Given the description of an element on the screen output the (x, y) to click on. 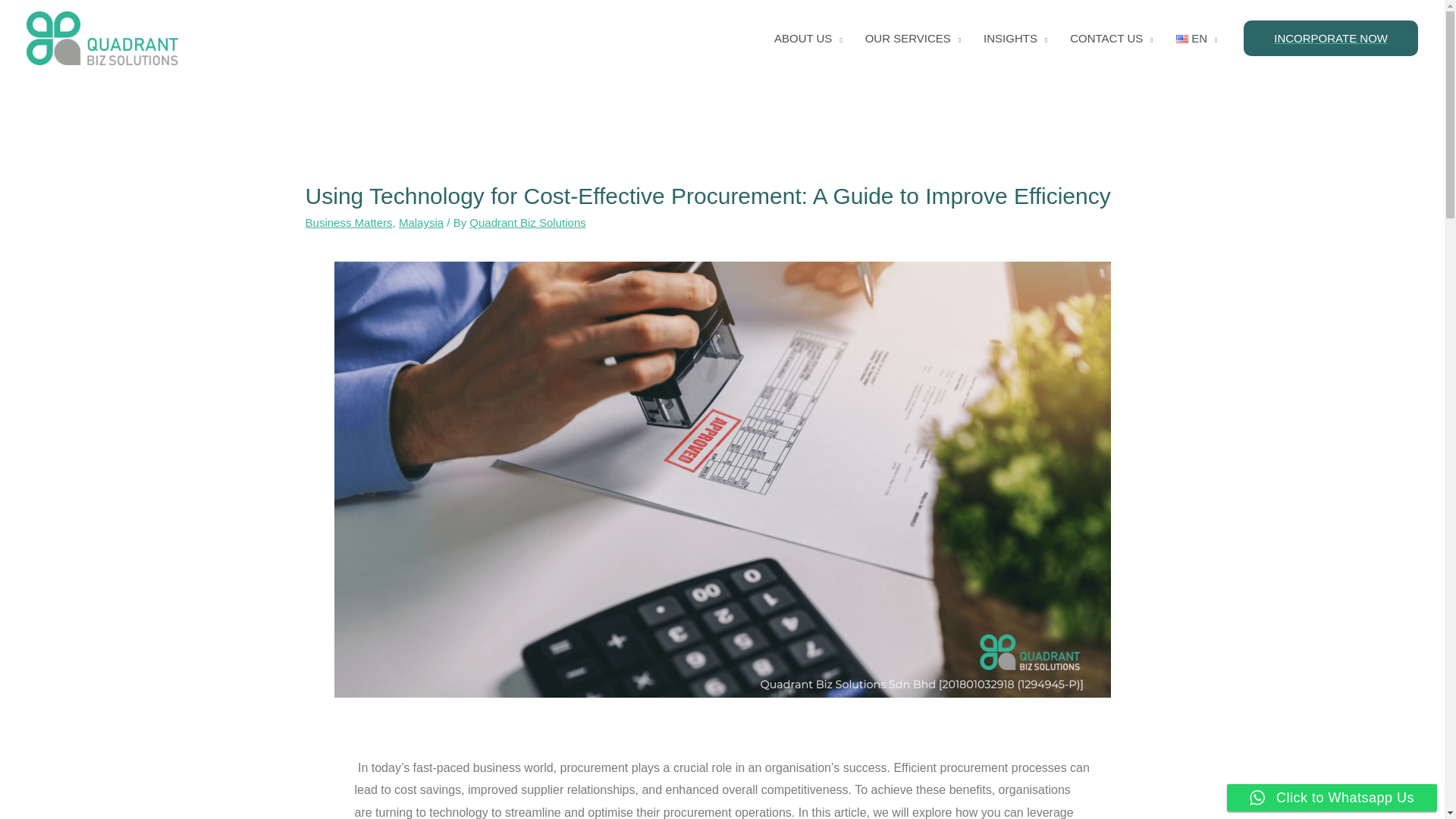
ABOUT US (807, 38)
OUR SERVICES (912, 38)
EN (1196, 38)
CONTACT US (1110, 38)
INCORPORATE NOW (1330, 38)
INSIGHTS (1015, 38)
View all posts by Quadrant Biz Solutions (526, 222)
